Given the description of an element on the screen output the (x, y) to click on. 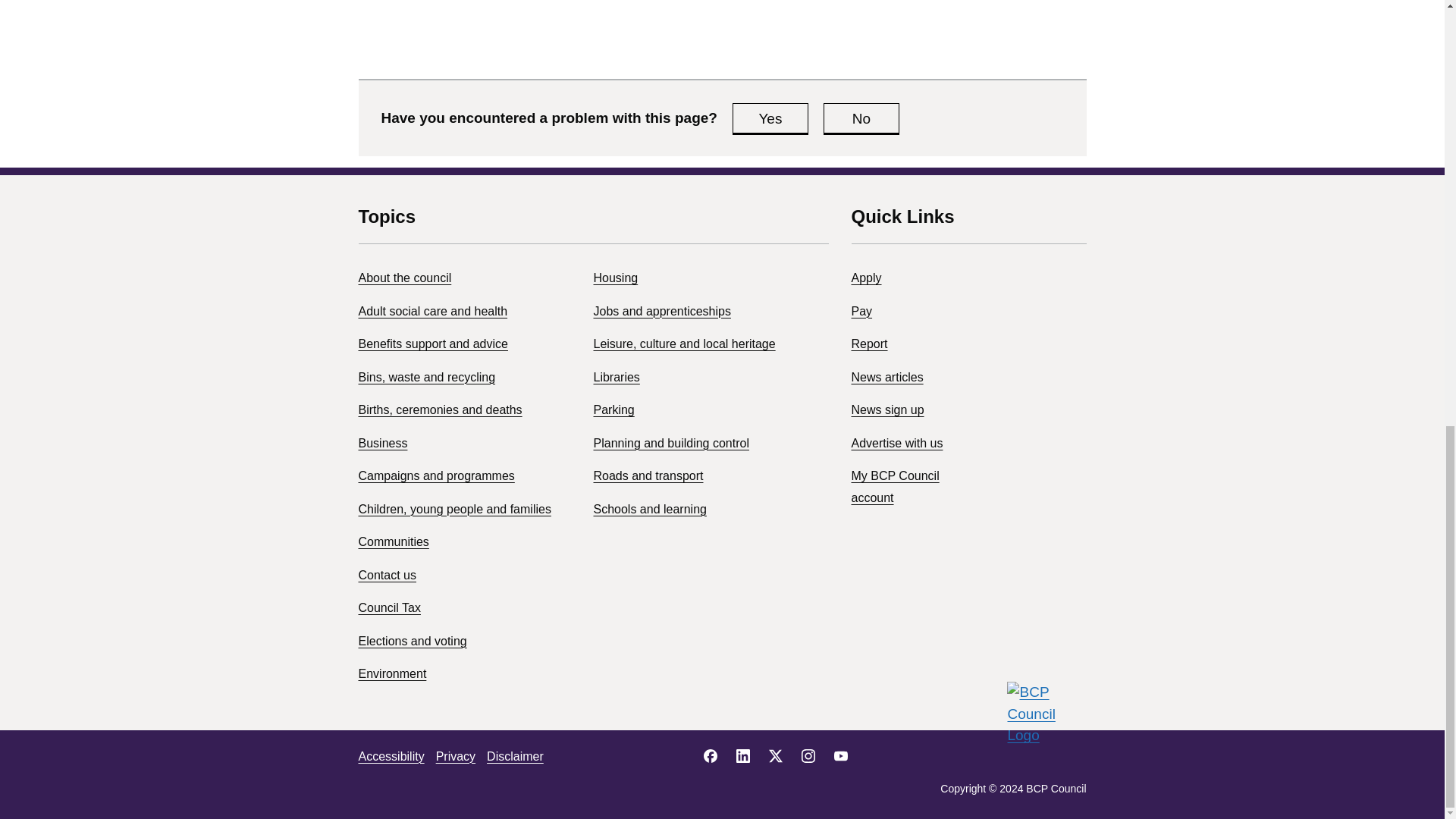
News sign up (886, 409)
BCP council on Facebook (710, 755)
About the council (404, 277)
Leisure, culture and local heritage (683, 343)
Council Tax (389, 607)
BCP council on YouTube (840, 755)
Campaigns and programmes (435, 475)
Libraries (615, 377)
News articles (886, 377)
Report (868, 343)
